Given the description of an element on the screen output the (x, y) to click on. 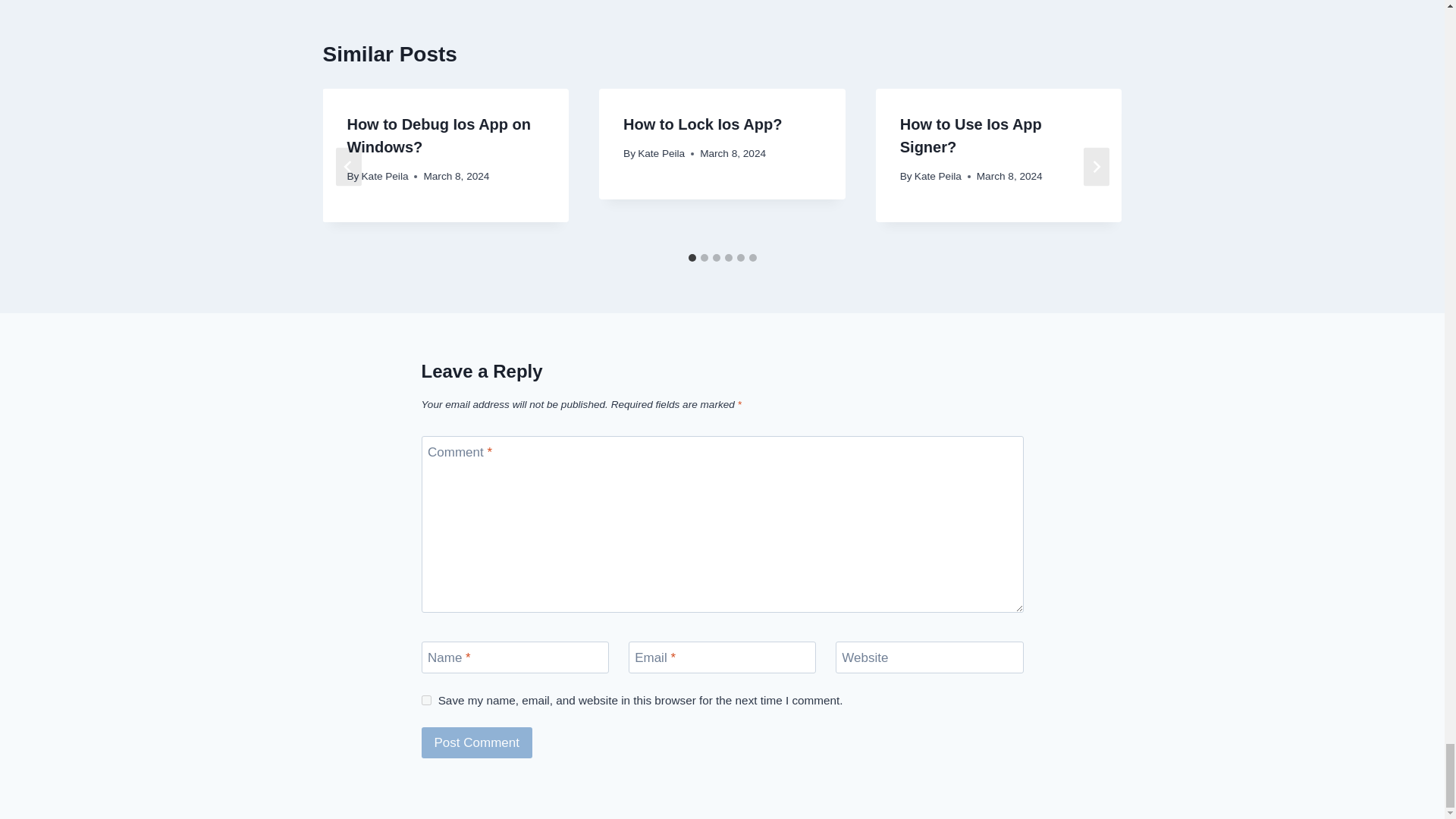
How to Debug Ios App on Windows? (438, 135)
Kate Peila (385, 175)
yes (426, 700)
Post Comment (477, 742)
